Given the description of an element on the screen output the (x, y) to click on. 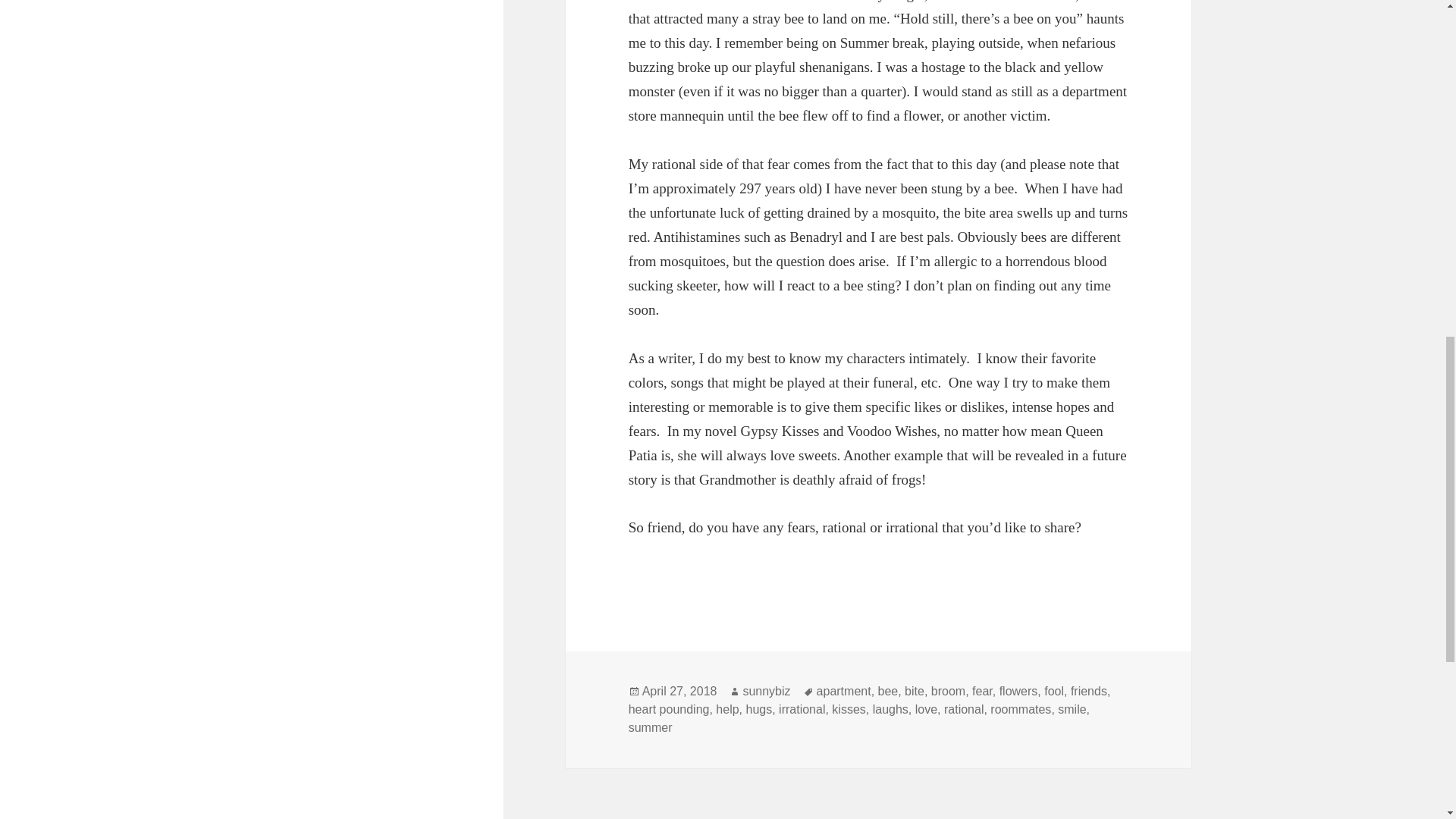
heart pounding (669, 709)
rational (963, 709)
laughs (890, 709)
flowers (1018, 691)
help (727, 709)
bite (914, 691)
apartment (843, 691)
summer (650, 727)
love (926, 709)
smile (1072, 709)
friends (1088, 691)
hugs (758, 709)
April 27, 2018 (679, 691)
roommates (1020, 709)
kisses (847, 709)
